Given the description of an element on the screen output the (x, y) to click on. 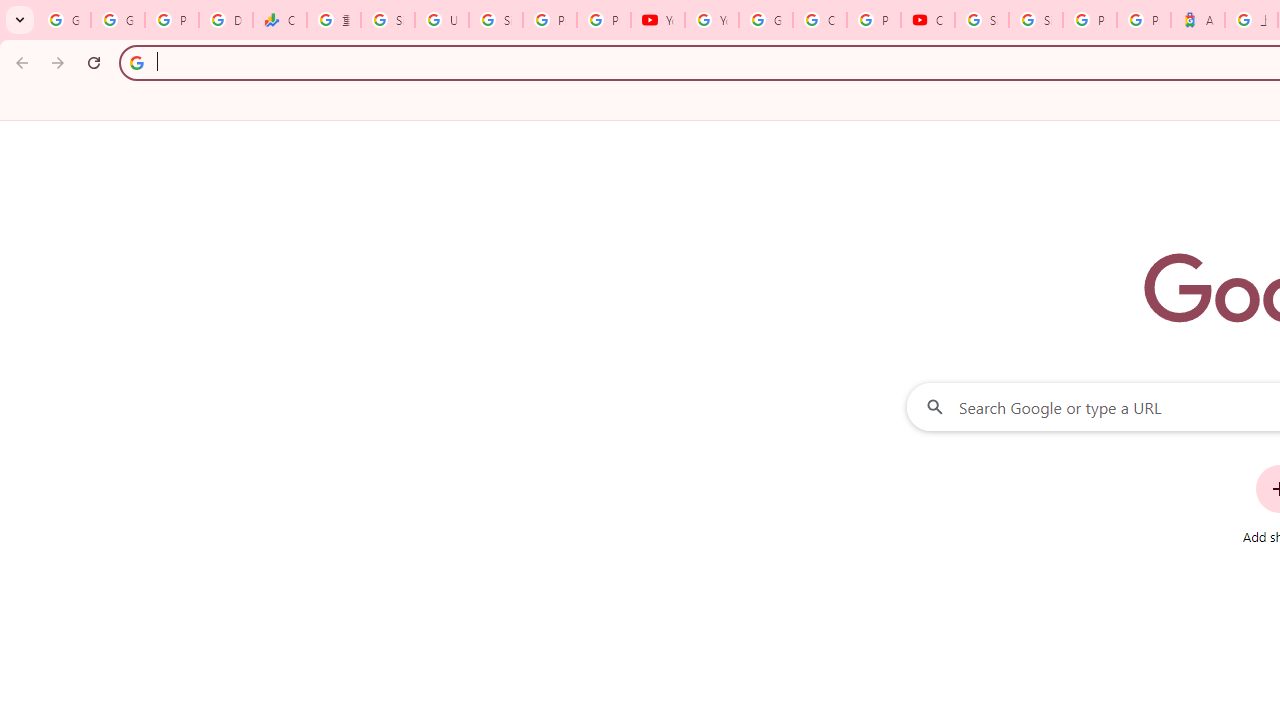
Google Account Help (765, 20)
Atour Hotel - Google hotels (1197, 20)
Sign in - Google Accounts (387, 20)
YouTube (711, 20)
Create your Google Account (819, 20)
Privacy Checkup (604, 20)
Currencies - Google Finance (280, 20)
